Given the description of an element on the screen output the (x, y) to click on. 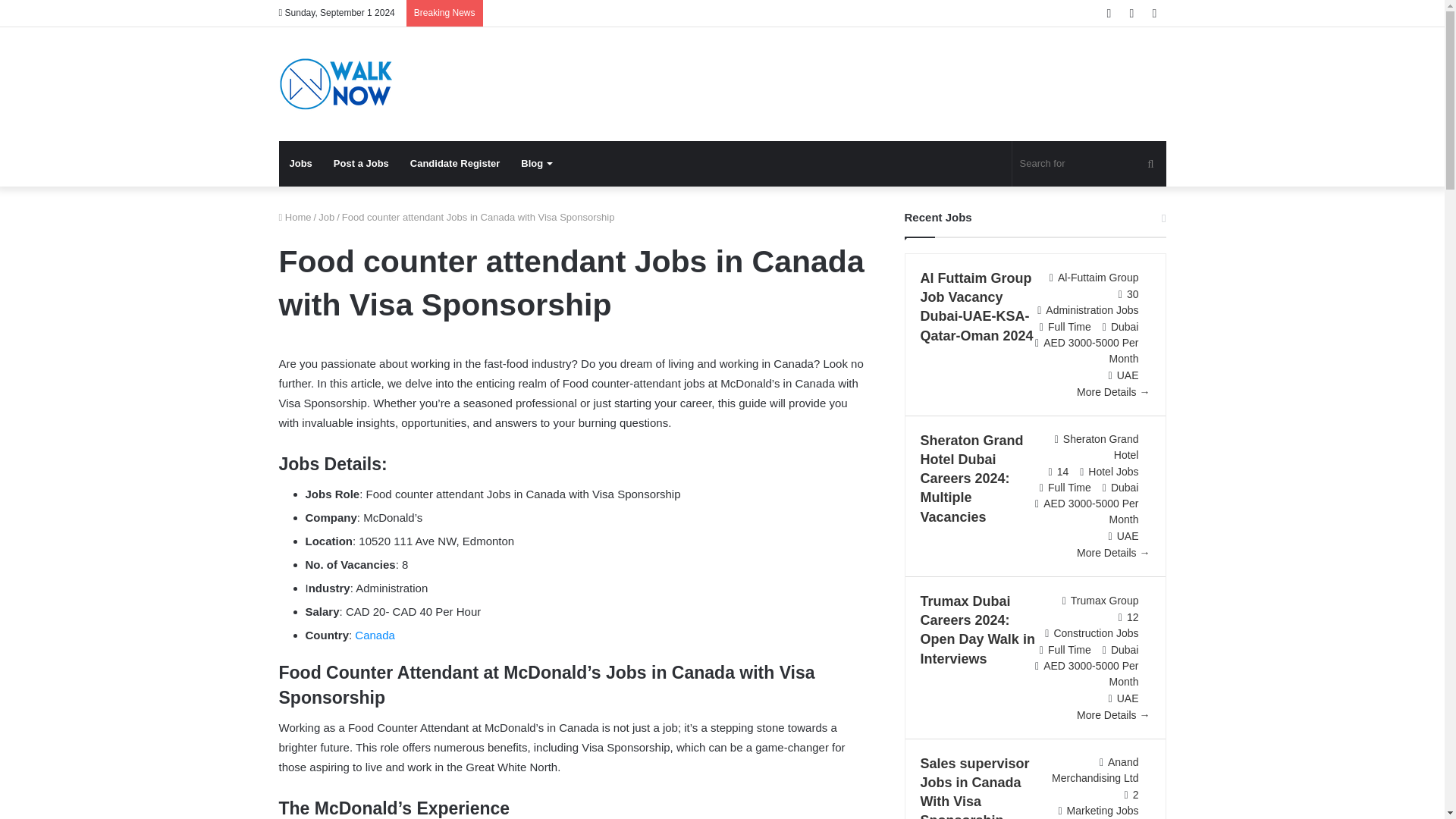
Administration Jobs (1091, 309)
AED 3000-5000 Per Month (1090, 350)
14 (1062, 471)
Canada (374, 634)
Candidate Register (454, 163)
Hotel Jobs (1112, 471)
Post a Jobs (360, 163)
Sheraton Grand Hotel Dubai Careers 2024: Multiple Vacancies (971, 478)
UAE (1127, 375)
Dubai (1124, 487)
